Given the description of an element on the screen output the (x, y) to click on. 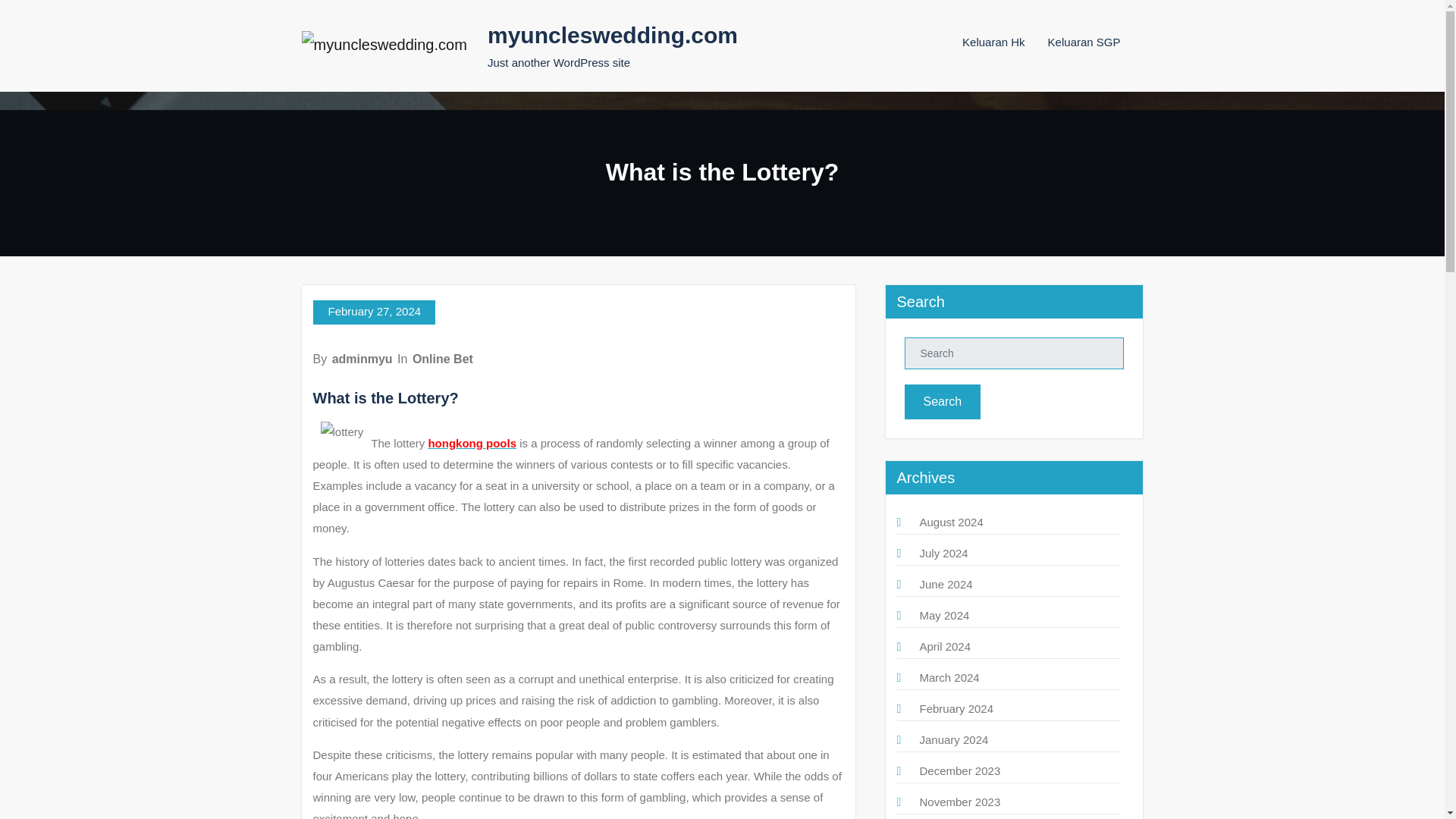
November 2023 (959, 801)
May 2024 (943, 615)
January 2024 (953, 739)
myuncleswedding.com (612, 34)
adminmyu (362, 358)
February 2024 (955, 707)
December 2023 (959, 770)
Keluaran SGP (1084, 41)
Keluaran Hk (993, 41)
August 2024 (950, 521)
